Given the description of an element on the screen output the (x, y) to click on. 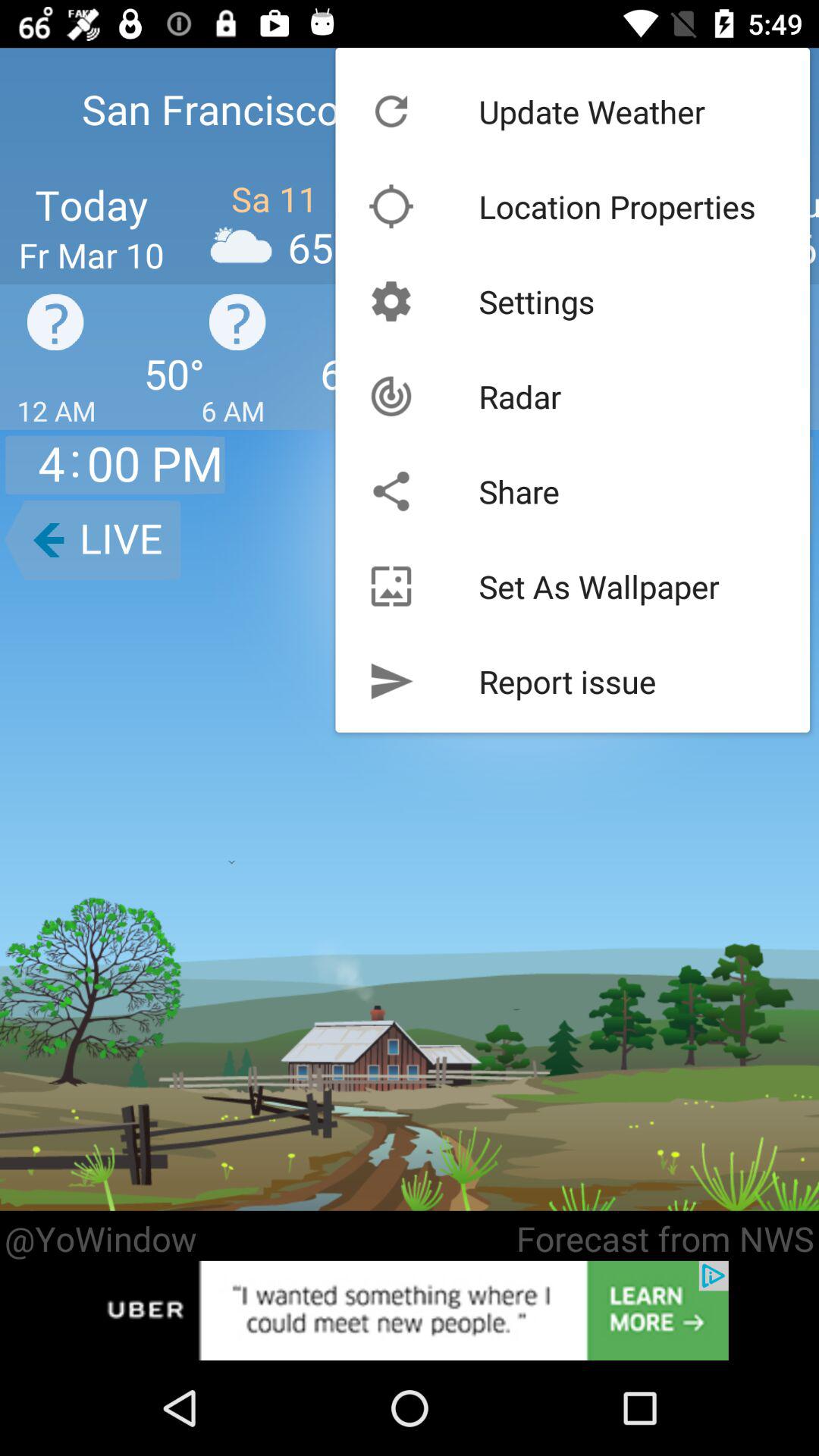
scroll until settings (536, 301)
